Given the description of an element on the screen output the (x, y) to click on. 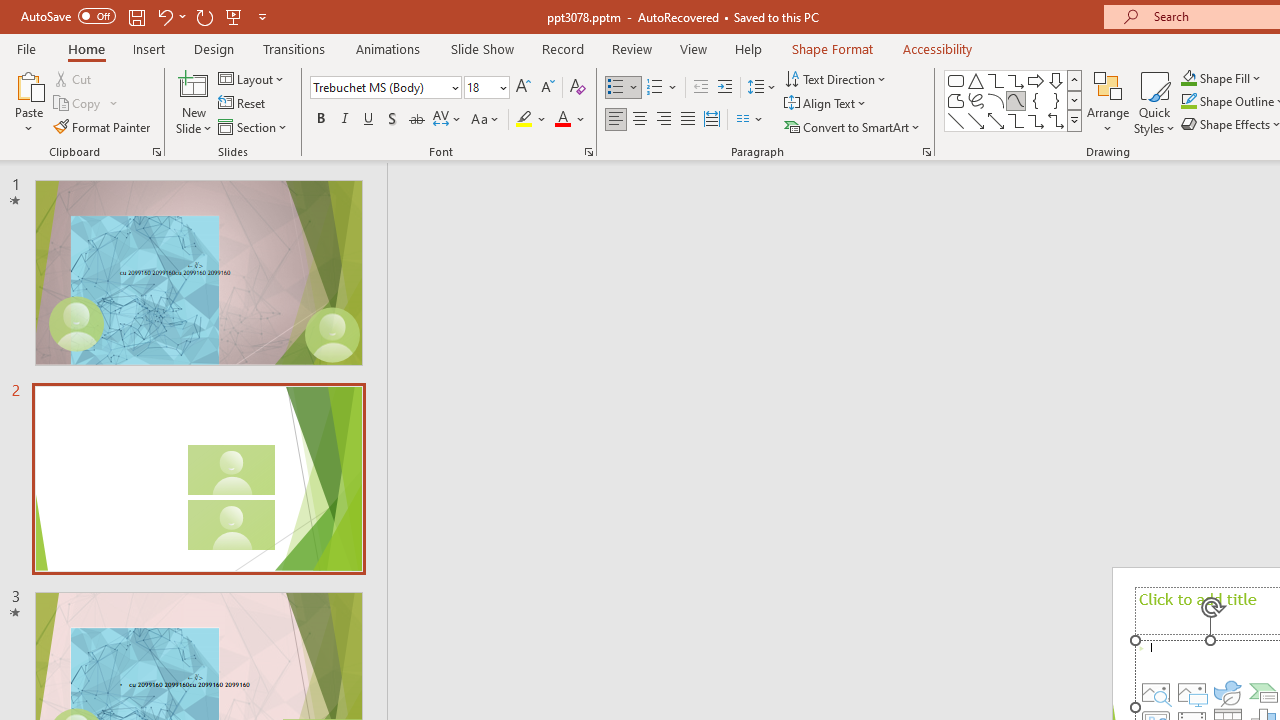
Insert a SmartArt Graphic (1264, 692)
Stock Images (1156, 692)
Line Arrow: Double (995, 120)
